Given the description of an element on the screen output the (x, y) to click on. 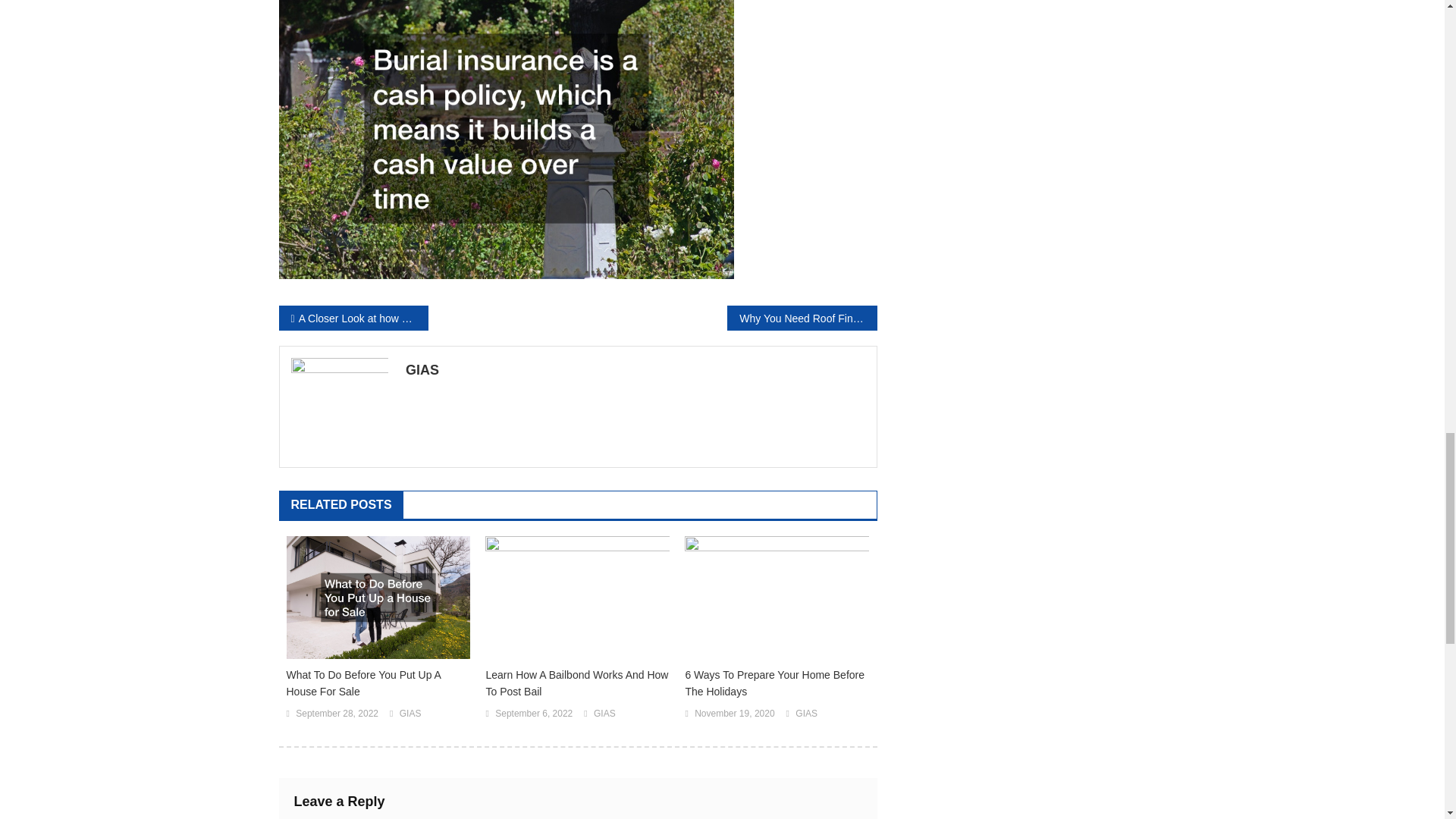
Why You Need Roof Financing Options (801, 317)
GIAS (805, 713)
A Closer Look at how Bail Works (353, 317)
6 Ways To Prepare Your Home Before The Holidays (776, 683)
What To Do Before You Put Up A House For Sale (378, 683)
GIAS (635, 369)
November 19, 2020 (734, 713)
September 6, 2022 (533, 713)
September 28, 2022 (336, 713)
GIAS (410, 713)
Learn How A Bailbond Works And How To Post Bail (576, 683)
GIAS (604, 713)
